Given the description of an element on the screen output the (x, y) to click on. 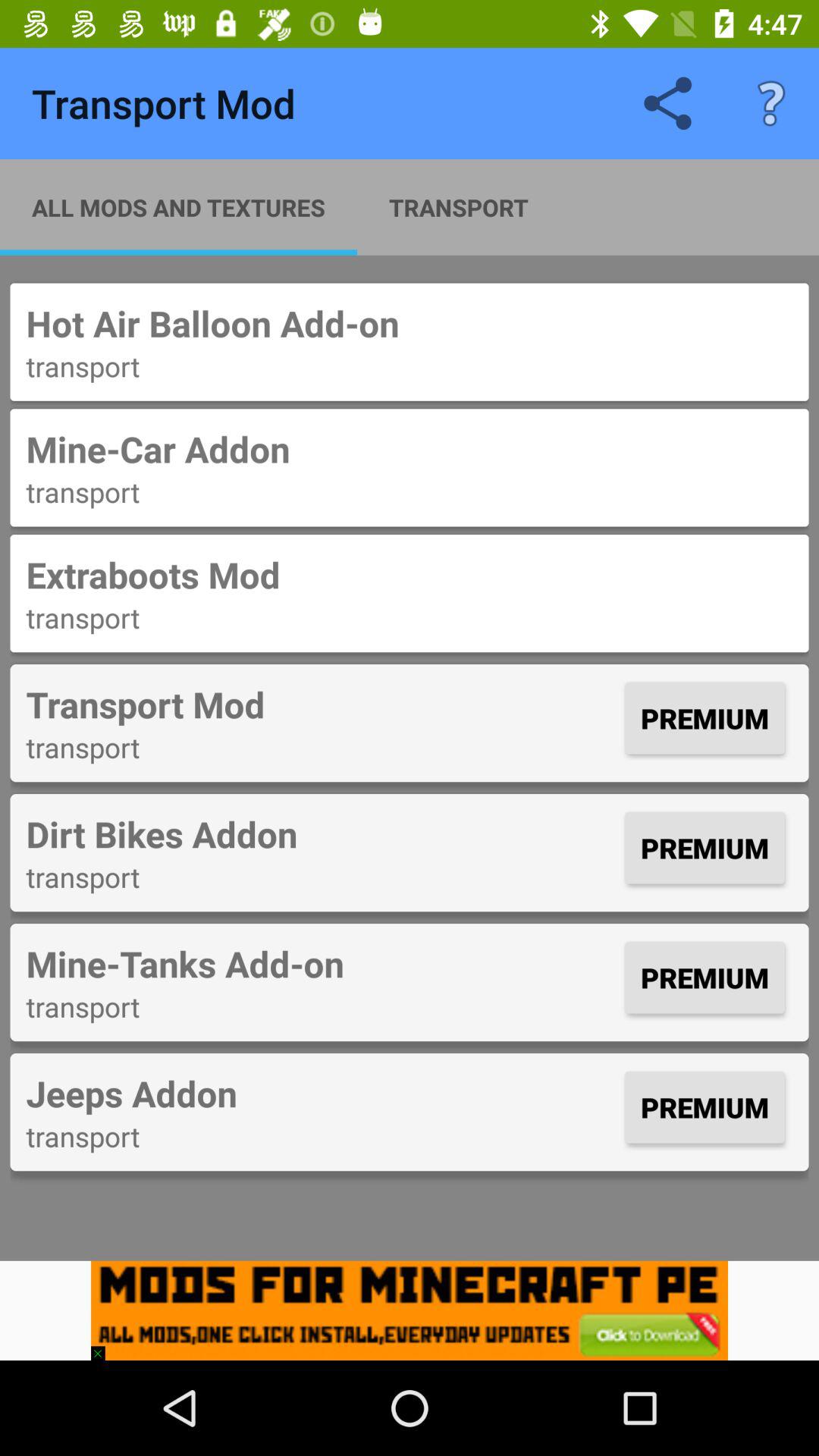
scroll to mine tanks add icon (321, 963)
